Given the description of an element on the screen output the (x, y) to click on. 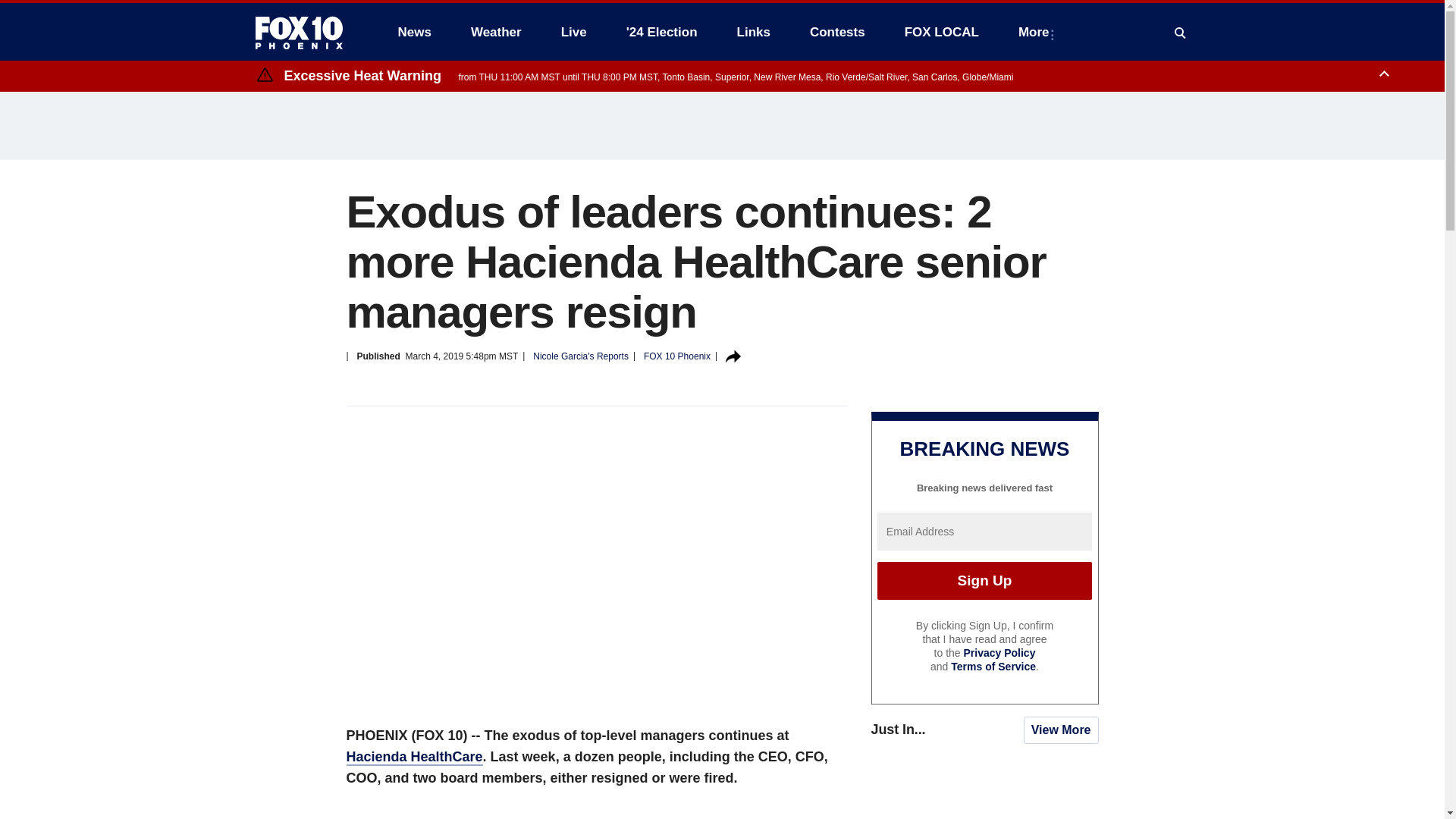
Sign Up (984, 580)
Weather (496, 32)
More (1036, 32)
FOX LOCAL (941, 32)
Contests (837, 32)
News (413, 32)
Links (754, 32)
'24 Election (662, 32)
Live (573, 32)
